Given the description of an element on the screen output the (x, y) to click on. 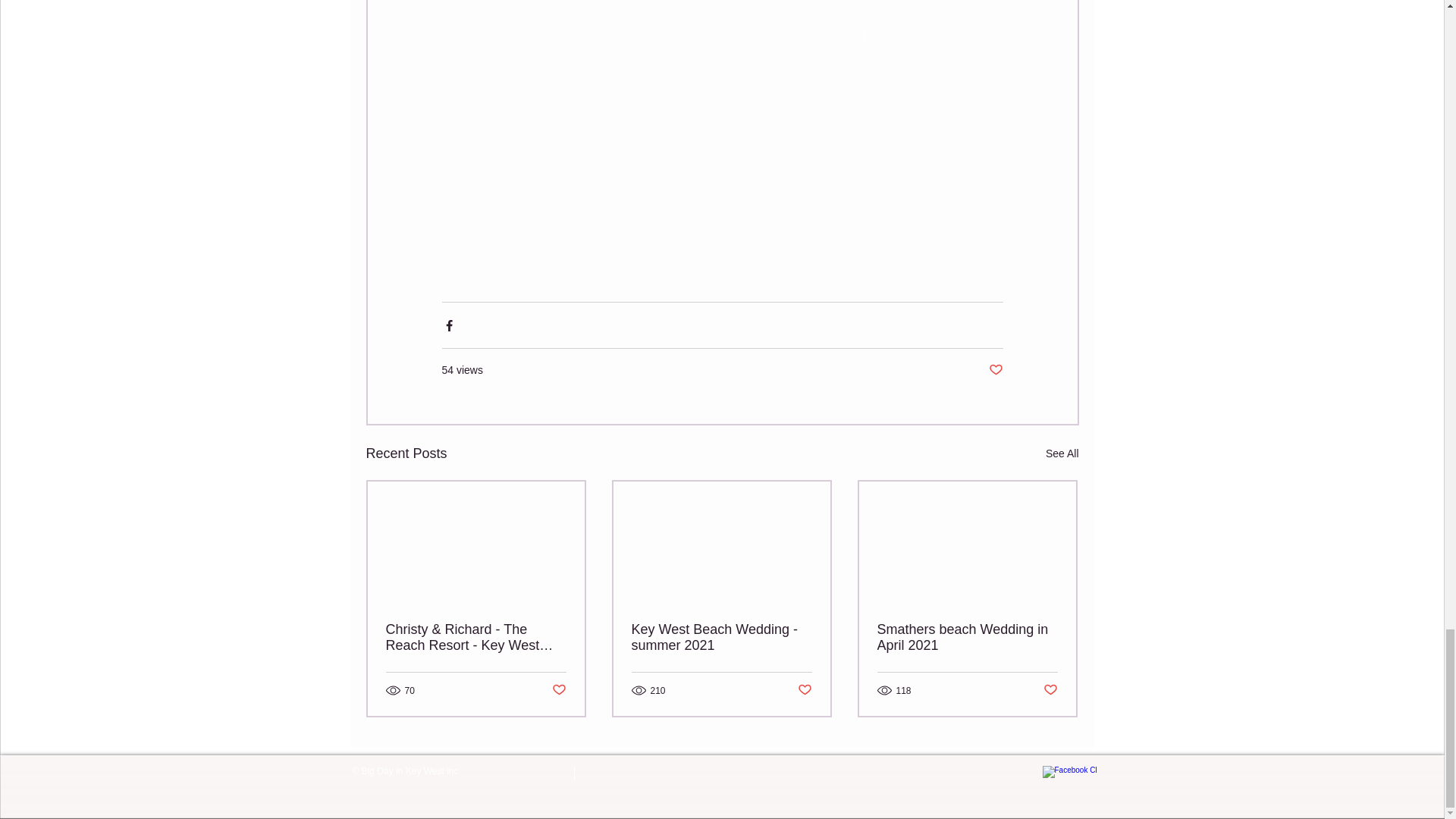
Post not marked as liked (558, 690)
See All (1061, 454)
Post not marked as liked (995, 370)
